Given the description of an element on the screen output the (x, y) to click on. 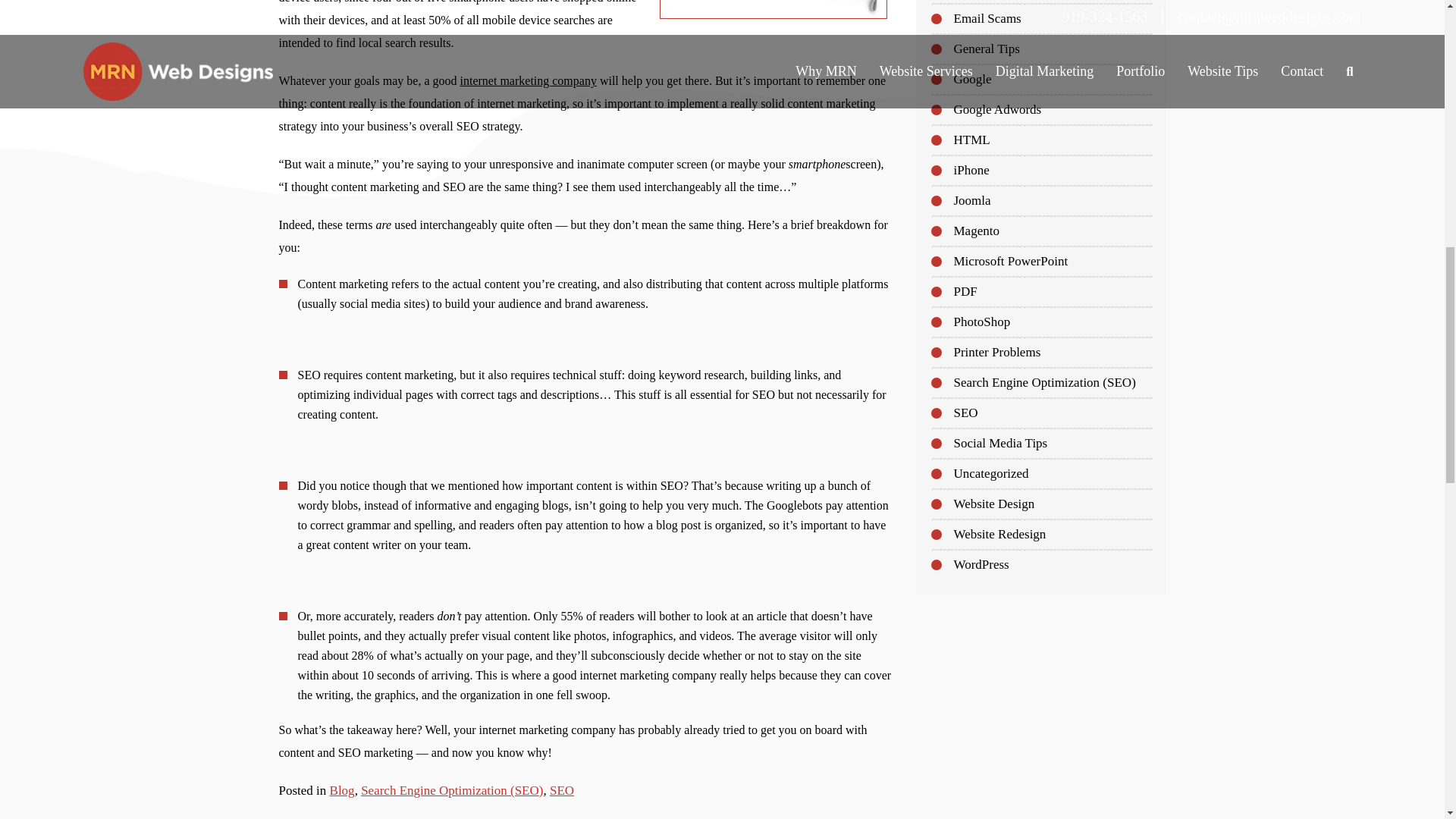
internet marketing company (528, 80)
SEO (561, 789)
Blog (342, 789)
